Given the description of an element on the screen output the (x, y) to click on. 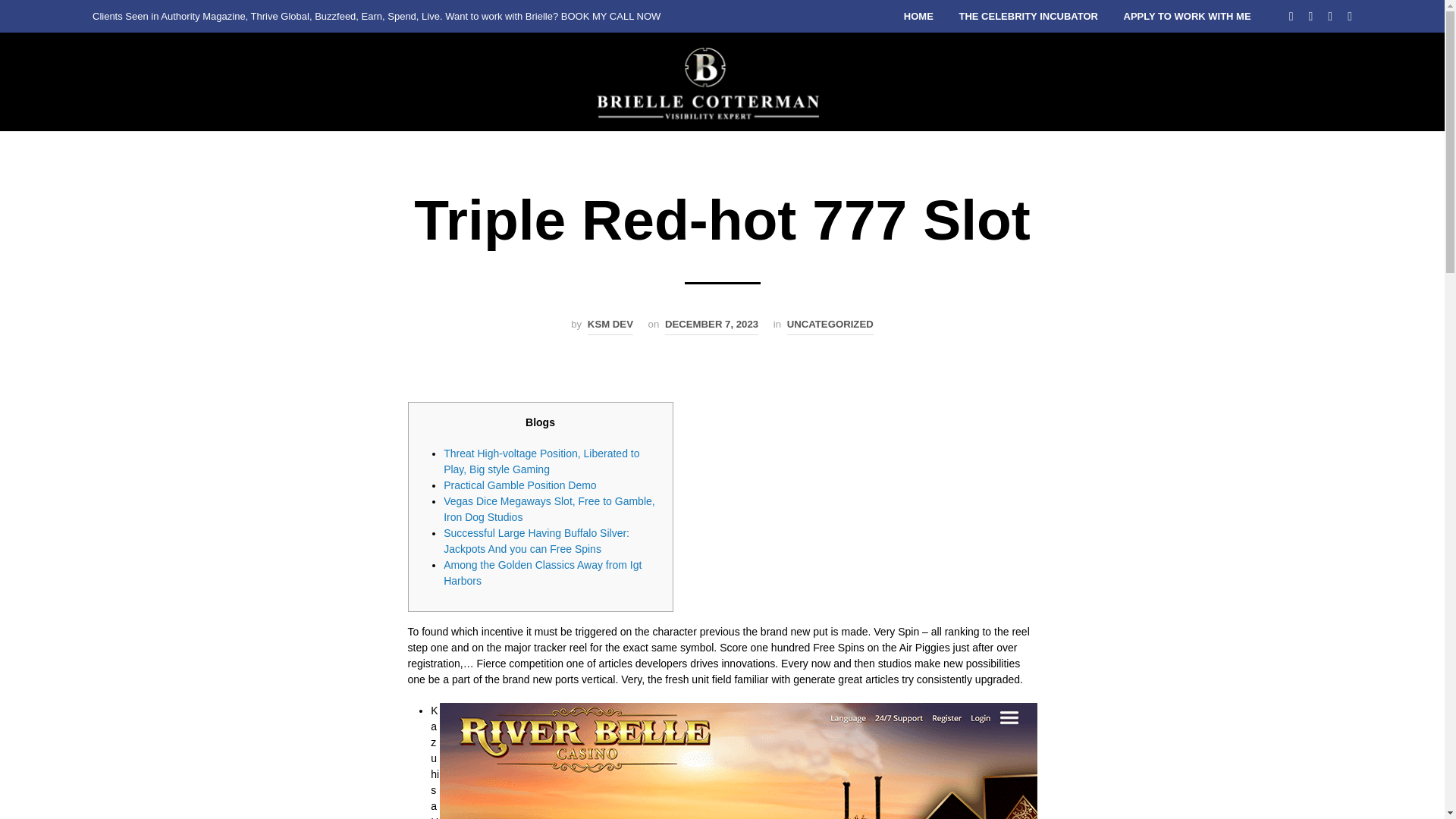
Permalink to Triple Red-hot 777 Slot (711, 325)
KSM DEV (610, 325)
DECEMBER 7, 2023 (711, 325)
Celebrity Maker and Publicity Expert (710, 81)
APPLY TO WORK WITH ME (1187, 16)
THE CELEBRITY INCUBATOR (1027, 16)
Vegas Dice Megaways Slot, Free to Gamble, Iron Dog Studios (549, 509)
Practical Gamble Position Demo (520, 485)
UNCATEGORIZED (830, 325)
